Given the description of an element on the screen output the (x, y) to click on. 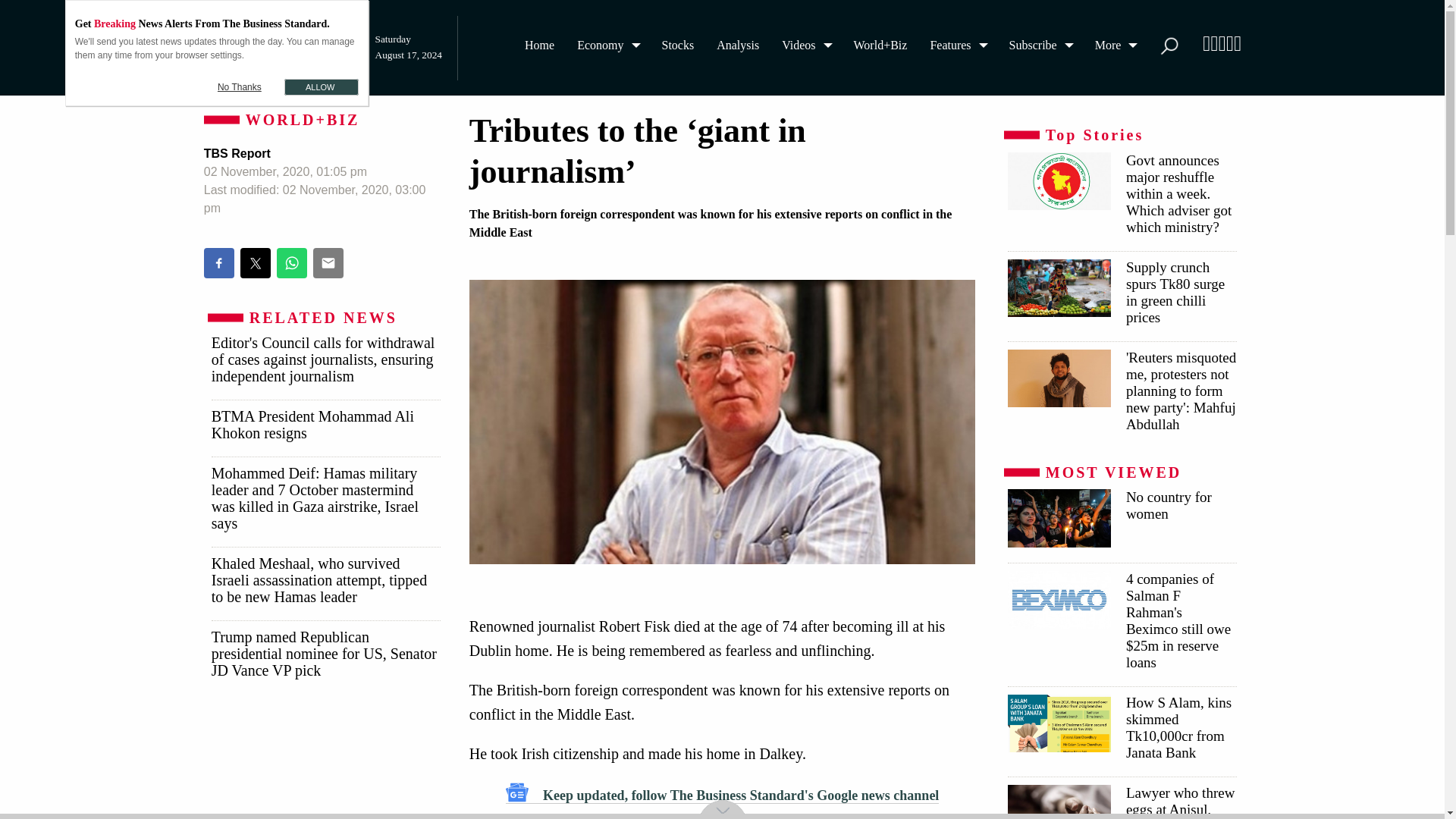
    ALLOW      (320, 86)
No Thanks (239, 86)
